Given the description of an element on the screen output the (x, y) to click on. 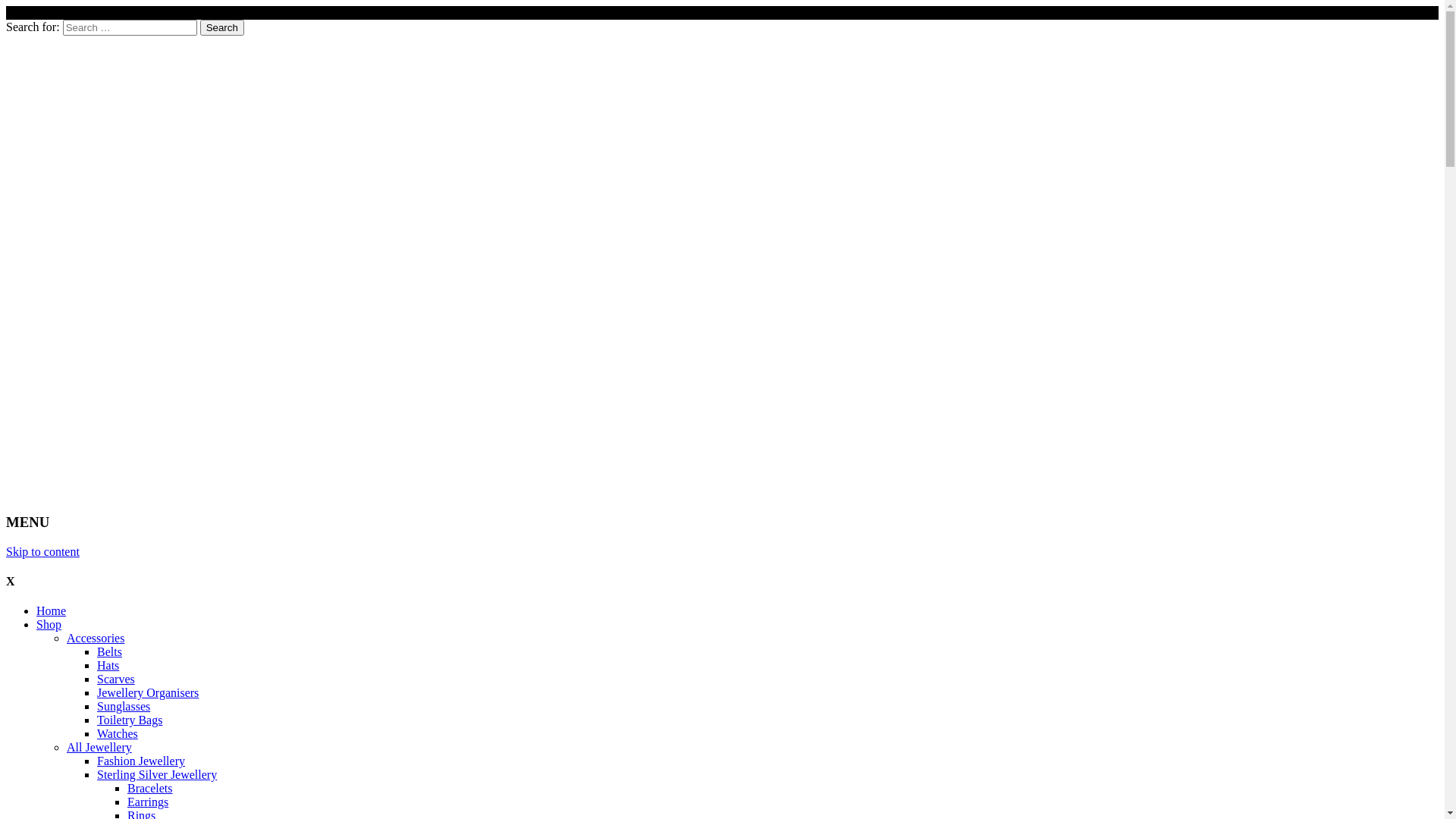
Skip to content Element type: text (42, 551)
Hats Element type: text (108, 664)
Sunglasses Element type: text (123, 705)
Fashion Jewellery Element type: text (141, 760)
Bracelets Element type: text (149, 787)
Essjai Element type: hover (225, 482)
All Jewellery Element type: text (98, 746)
Search Element type: text (222, 27)
Sterling Silver Jewellery Element type: text (156, 774)
Toiletry Bags Element type: text (129, 719)
Jewellery Organisers Element type: text (147, 692)
Watches Element type: text (117, 733)
Scarves Element type: text (115, 678)
Home Element type: text (50, 610)
Shop Element type: text (48, 624)
Earrings Element type: text (147, 801)
Belts Element type: text (109, 651)
Accessories Element type: text (95, 637)
